Given the description of an element on the screen output the (x, y) to click on. 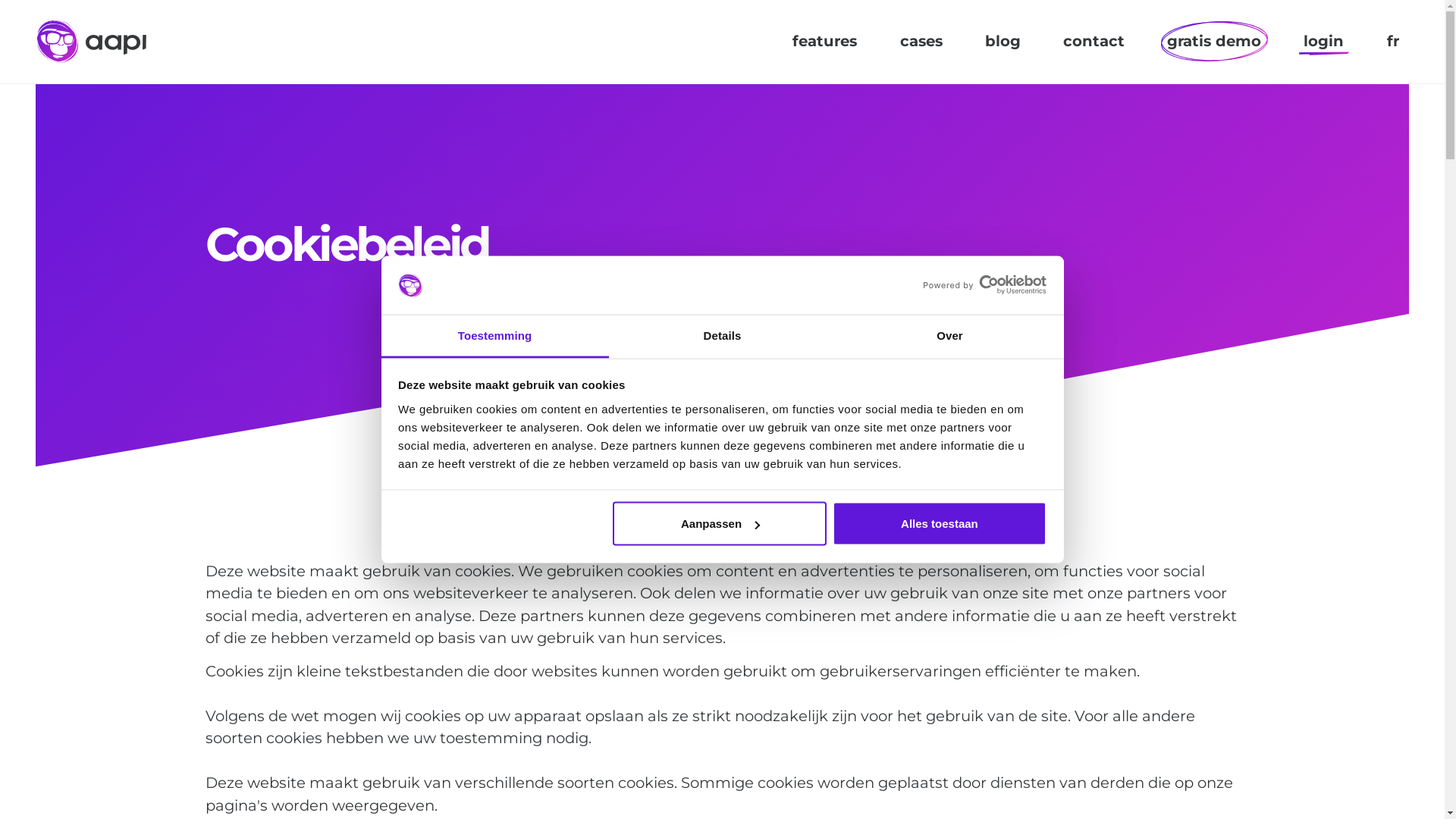
Alles toestaan Element type: text (939, 524)
fr Element type: text (1392, 41)
Aanpassen Element type: text (719, 524)
Details Element type: text (721, 335)
login Element type: text (1323, 41)
features Element type: text (824, 41)
cases Element type: text (921, 41)
Over Element type: text (949, 335)
Toestemming Element type: text (494, 335)
contact Element type: text (1093, 41)
blog Element type: text (1002, 41)
gratis demo Element type: text (1213, 40)
